Given the description of an element on the screen output the (x, y) to click on. 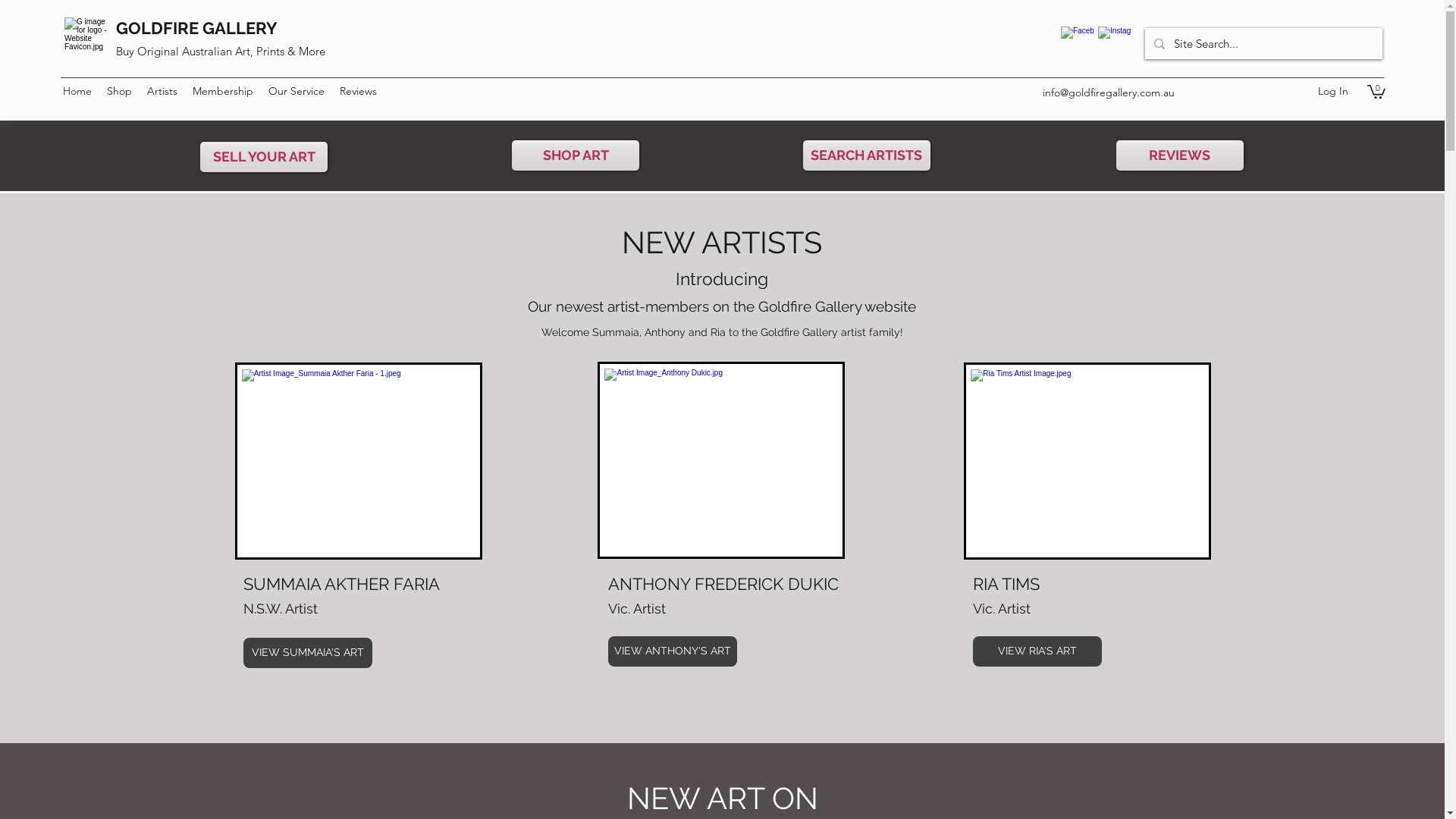
Home Element type: text (77, 91)
VIEW ANTHONY'S ART Element type: text (672, 651)
GOLDFIRE GALLERY Element type: text (196, 27)
Artists Element type: text (162, 91)
VIEW SUMMAIA'S ART Element type: text (307, 652)
Log In Element type: text (1332, 91)
Shop Element type: text (119, 91)
Reviews Element type: text (358, 91)
SEARCH ARTISTS Element type: text (866, 155)
VIEW RIA'S ART Element type: text (1036, 651)
0 Element type: text (1376, 90)
SELL YOUR ART Element type: text (263, 156)
REVIEWS Element type: text (1179, 155)
info@goldfiregallery.com.au Element type: text (1108, 92)
SHOP ART Element type: text (575, 155)
